Given the description of an element on the screen output the (x, y) to click on. 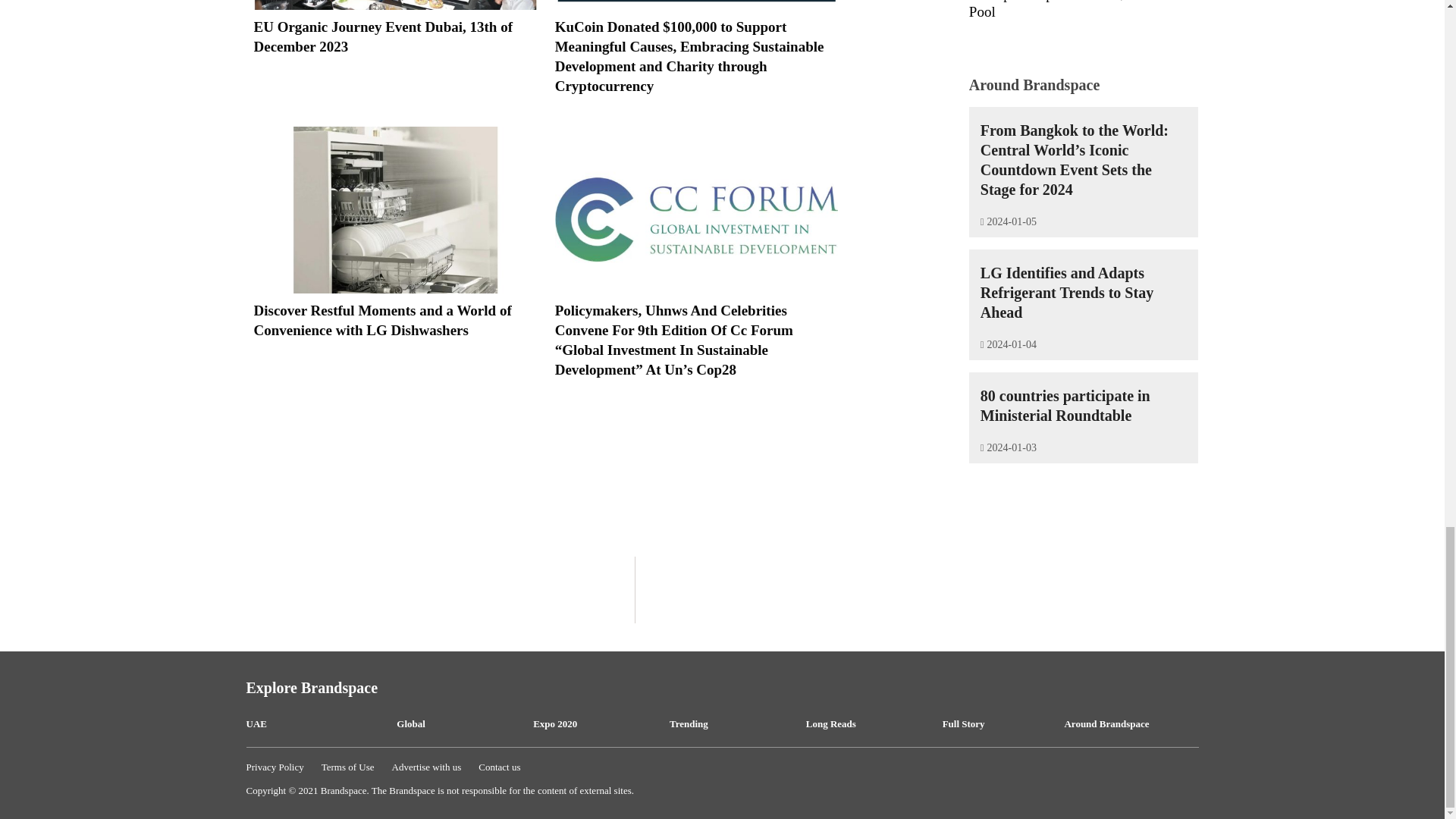
LG Identifies and Adapts Refrigerant Trends to Stay Ahead (1066, 292)
EU Organic Journey Event Dubai, 13th of December 2023 (394, 36)
80 countries participate in Ministerial Roundtable (1064, 405)
